Given the description of an element on the screen output the (x, y) to click on. 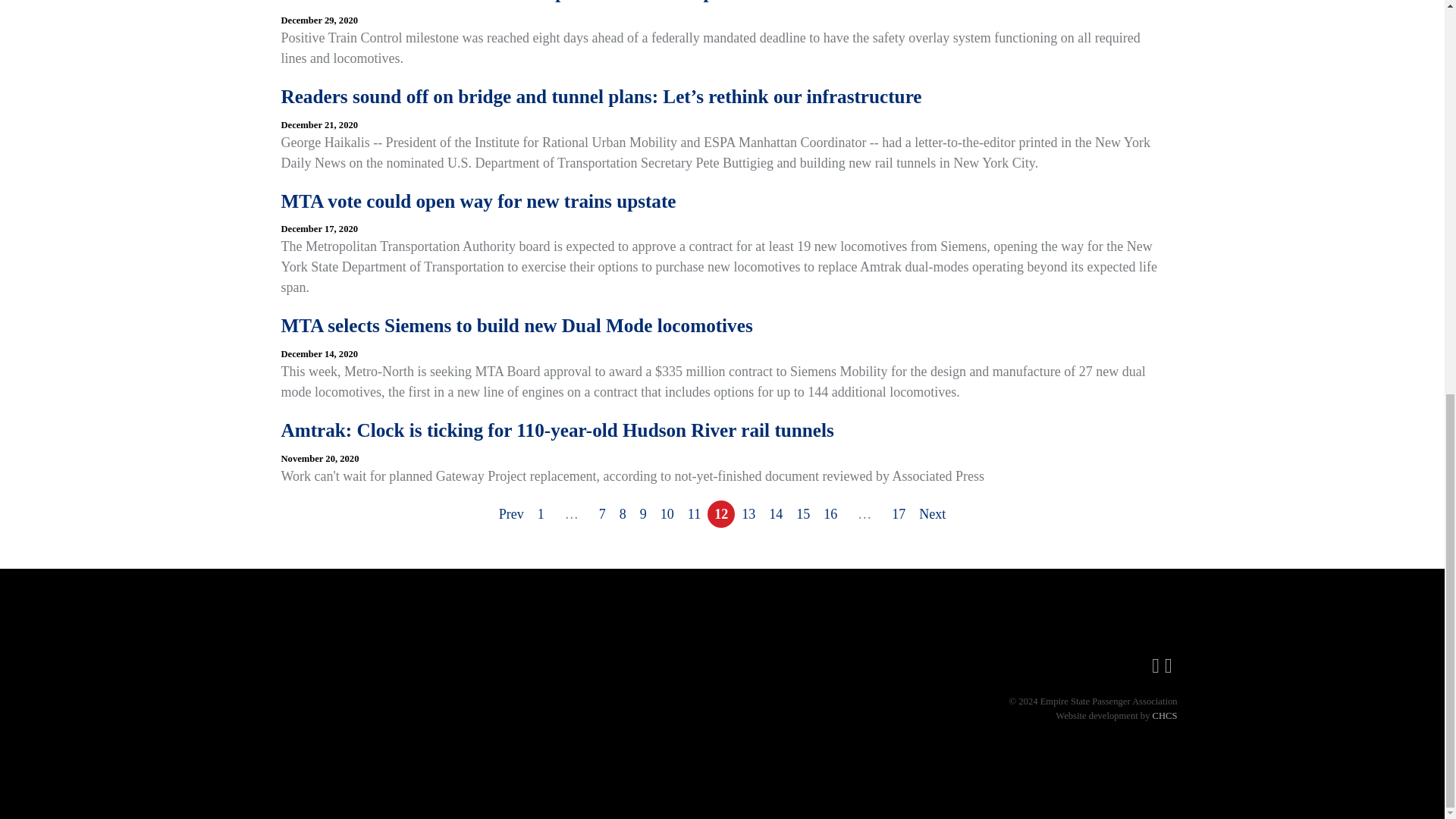
Facebook (1154, 665)
YouTube (1168, 665)
